Given the description of an element on the screen output the (x, y) to click on. 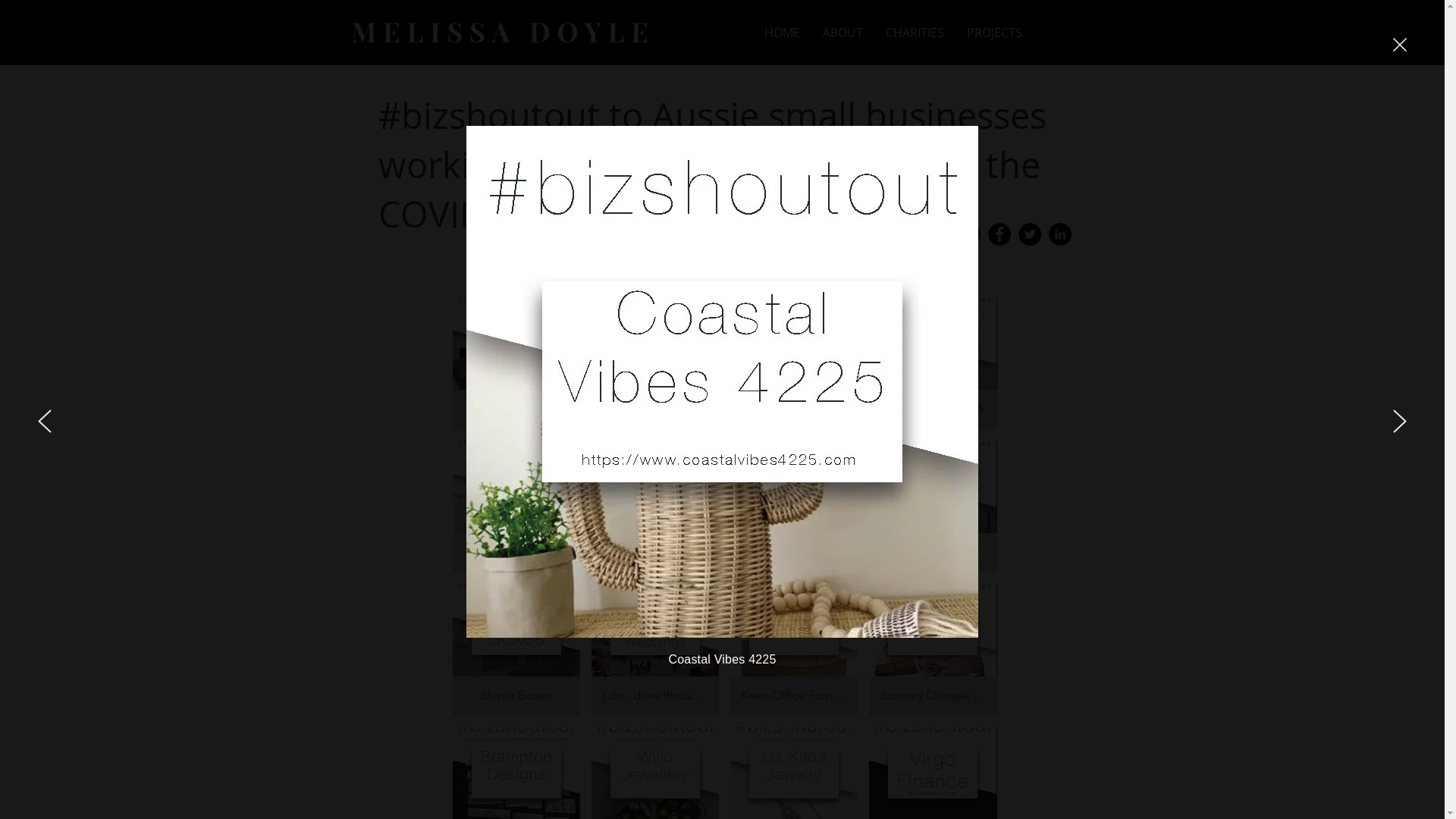
HOME Element type: text (781, 32)
CHARITIES Element type: text (913, 32)
PROJECTS Element type: text (994, 32)
ABOUT Element type: text (842, 32)
